Given the description of an element on the screen output the (x, y) to click on. 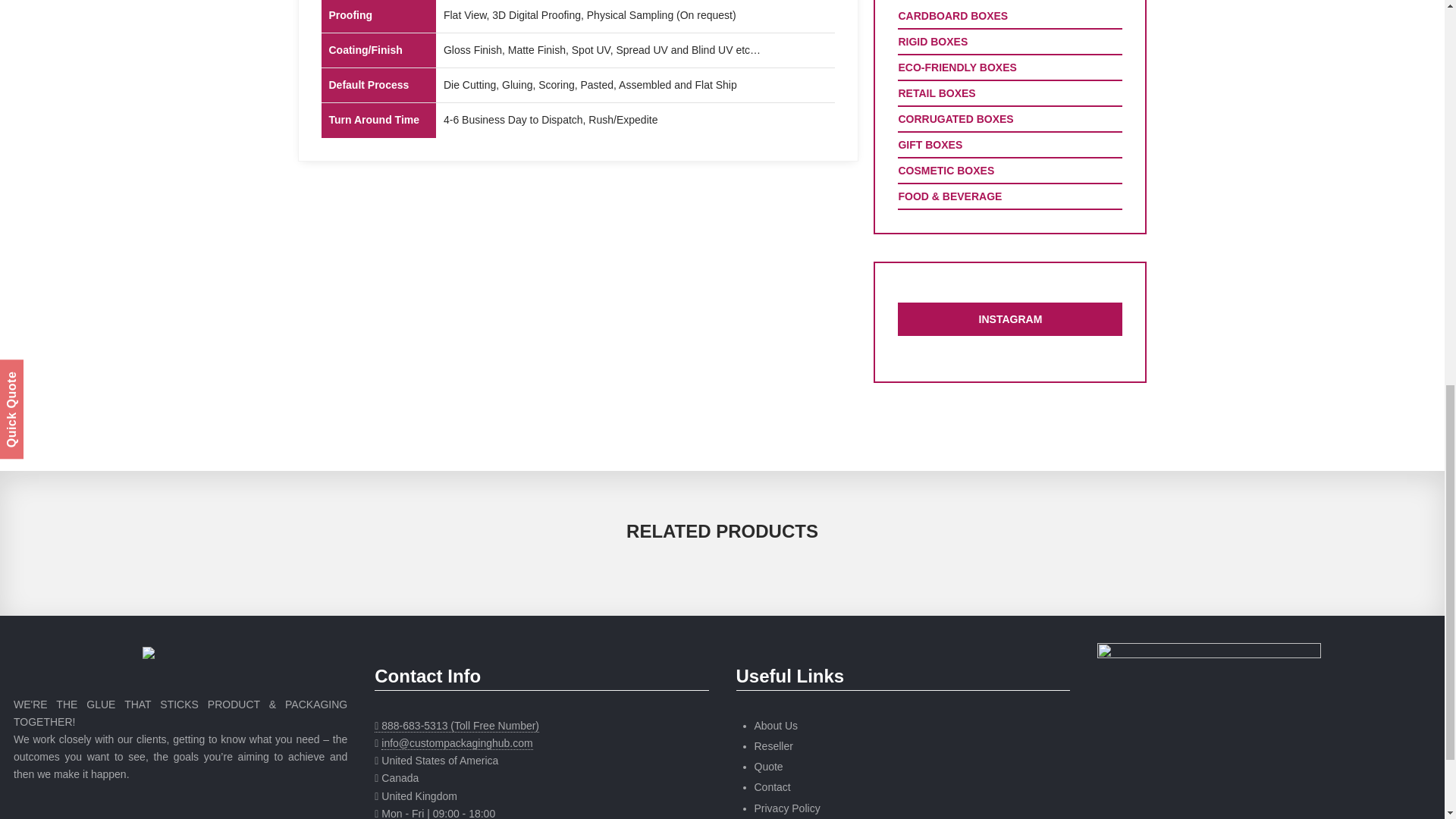
About Us (775, 725)
Reseller (773, 746)
Quote (768, 766)
